Given the description of an element on the screen output the (x, y) to click on. 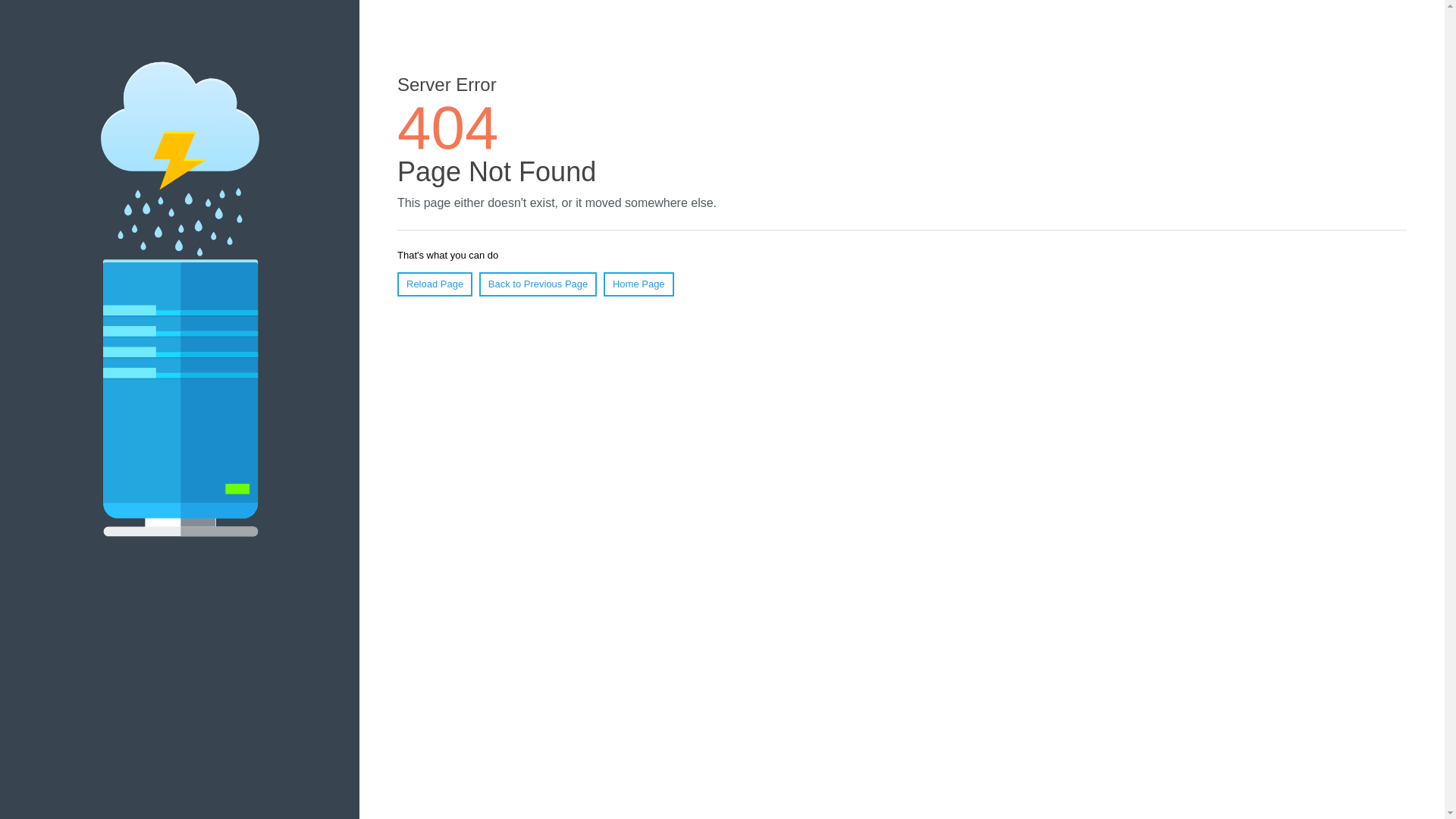
Back to Previous Page Element type: text (538, 284)
Home Page Element type: text (638, 284)
Reload Page Element type: text (434, 284)
